Given the description of an element on the screen output the (x, y) to click on. 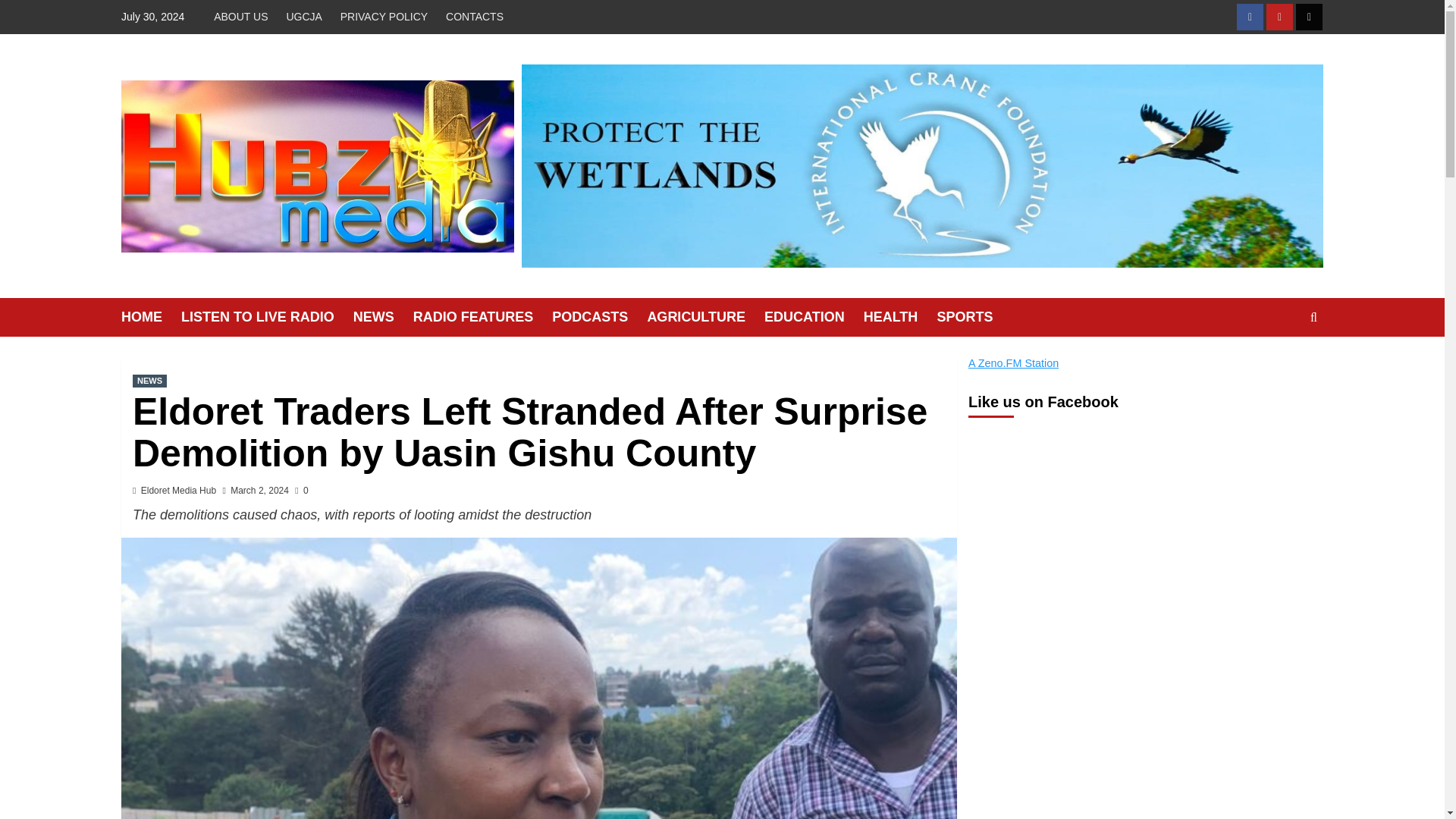
AGRICULTURE (705, 317)
ABOUT US (244, 17)
RADIO FEATURES (483, 317)
NEWS (383, 317)
CONTACTS (474, 17)
March 2, 2024 (259, 490)
TWITTER (1308, 17)
NEWS (149, 380)
UGCJA (303, 17)
HEALTH (900, 317)
FACEBOOK (1249, 17)
HOME (150, 317)
Eldoret Media Hub (178, 490)
LISTEN TO LIVE RADIO (266, 317)
YOUTUBE (1279, 17)
